Given the description of an element on the screen output the (x, y) to click on. 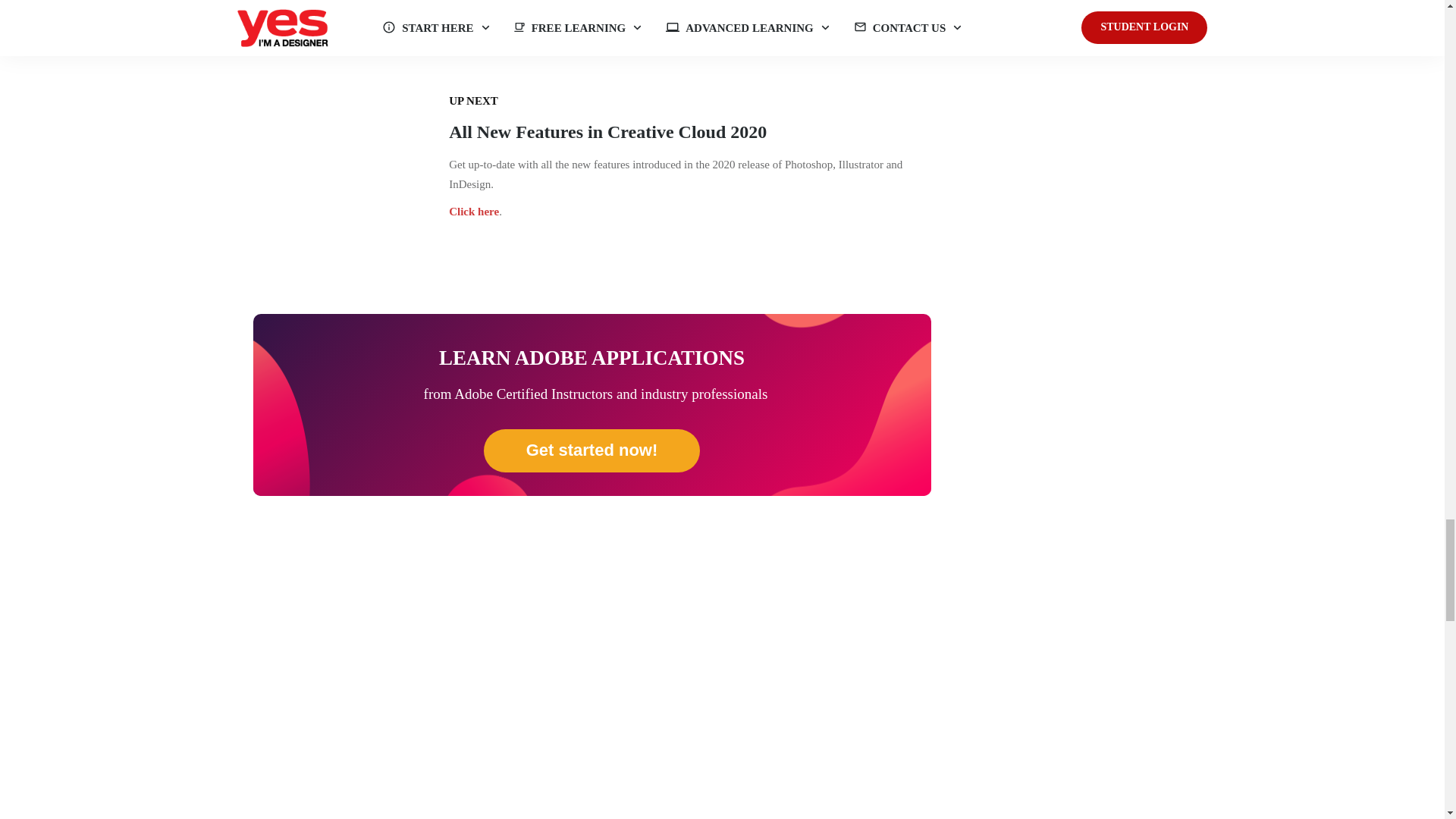
All New Features in Creative Cloud 2020 (607, 131)
cc2020 (351, 175)
